Given the description of an element on the screen output the (x, y) to click on. 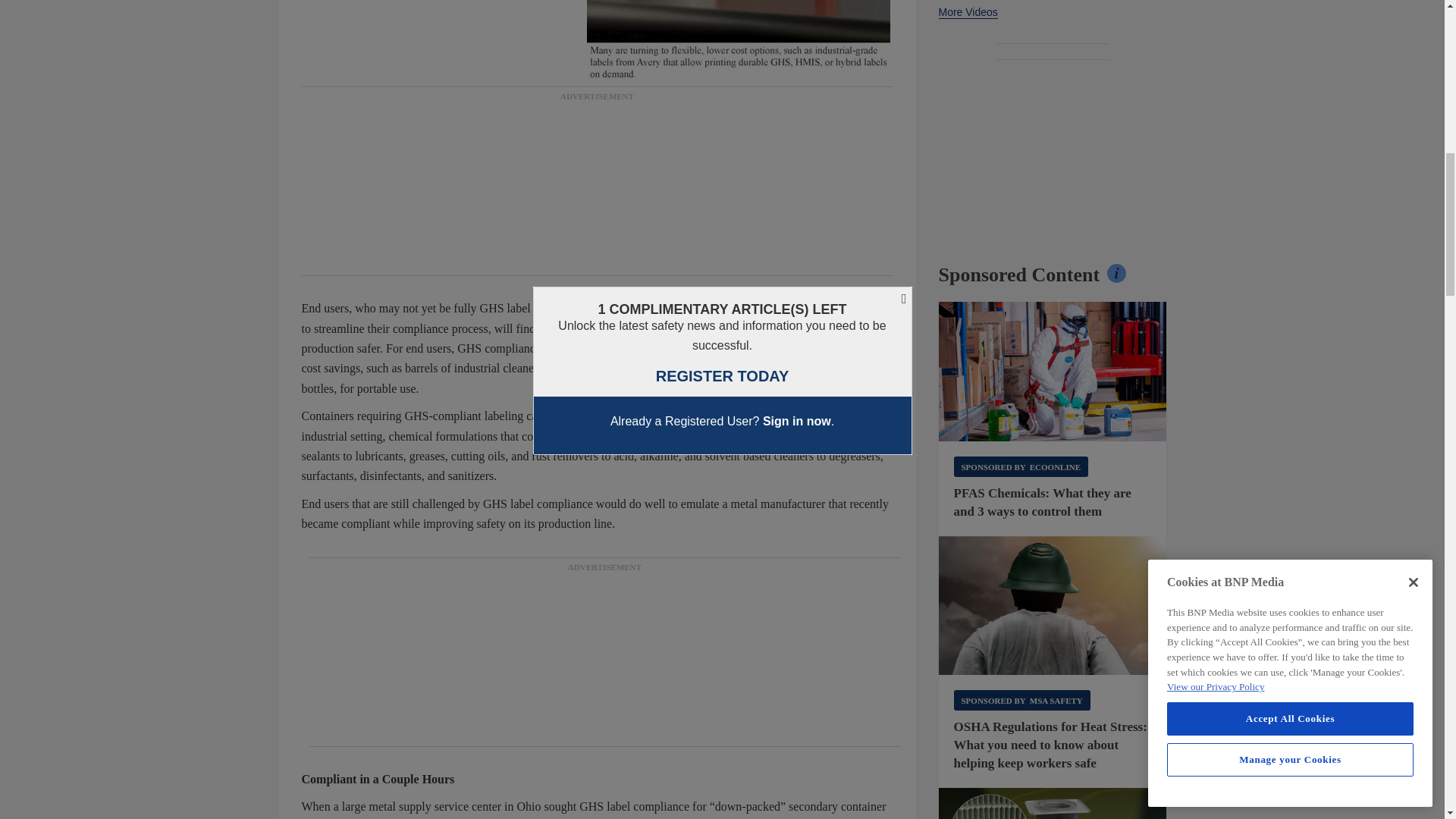
chemical safety (1052, 371)
dust collector filters and media (1052, 803)
Sponsored by MSA Safety (1021, 700)
Sponsored by EcoOnline (1021, 466)
man working in summer heat (1052, 605)
